Given the description of an element on the screen output the (x, y) to click on. 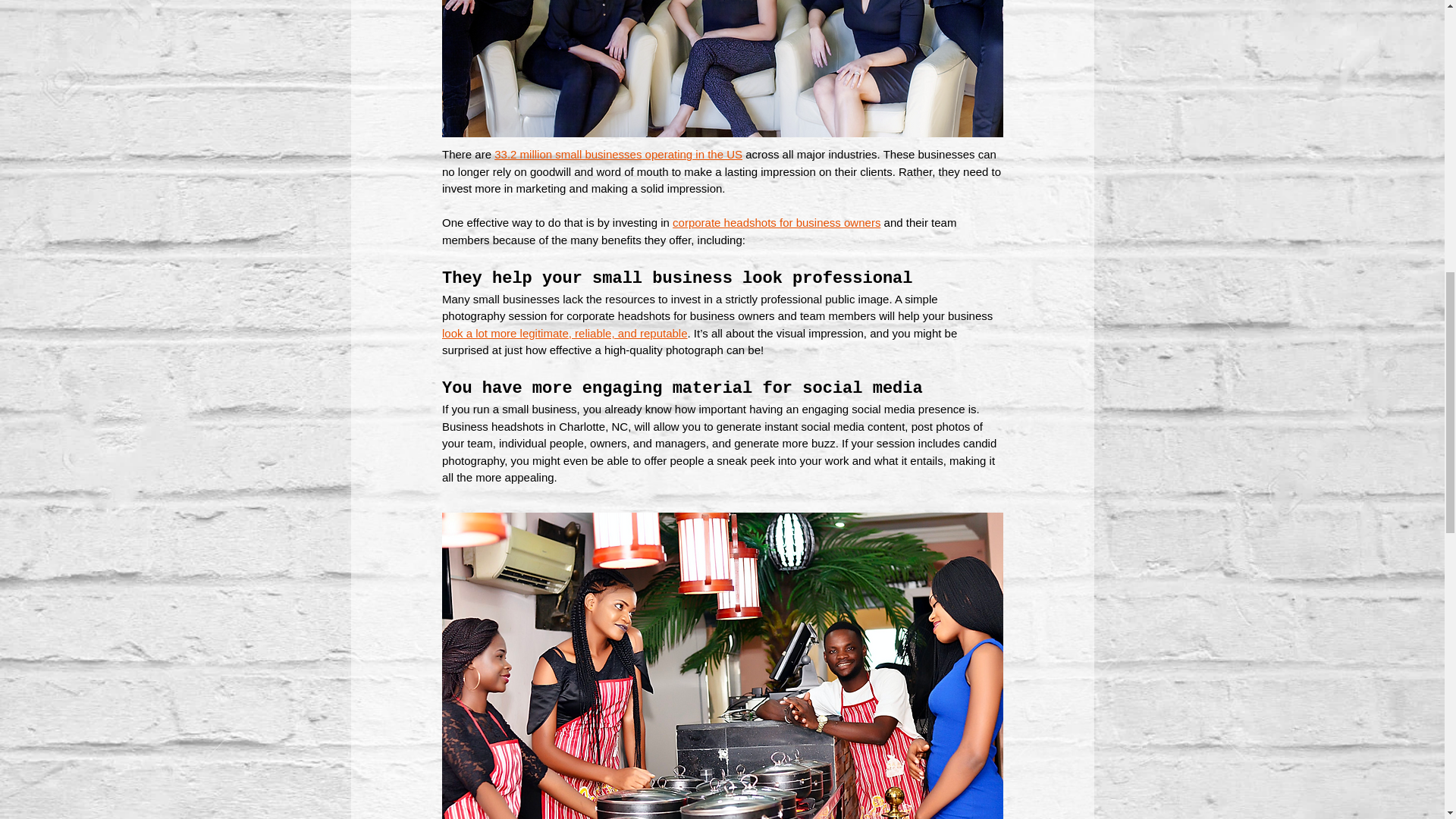
look a lot more legitimate, reliable, and reputable (564, 332)
corporate headshots for business owners (776, 222)
33.2 million small businesses operating in the US (618, 154)
